Given the description of an element on the screen output the (x, y) to click on. 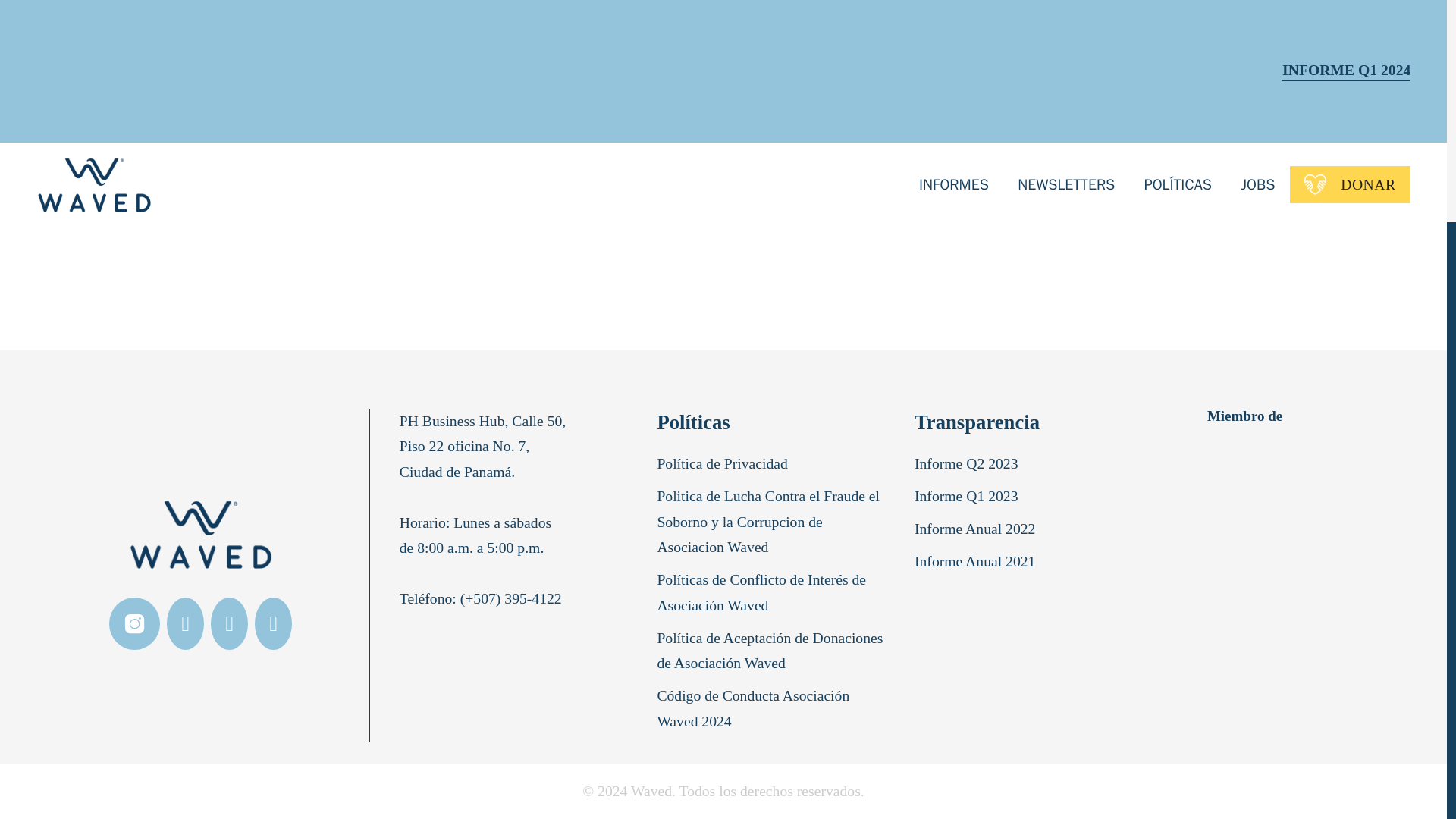
Informe Anual 2021 (978, 564)
Informe Q1 2023 (969, 500)
Informe Anual 2022 (978, 532)
Informe Q2 2023 (969, 467)
